Given the description of an element on the screen output the (x, y) to click on. 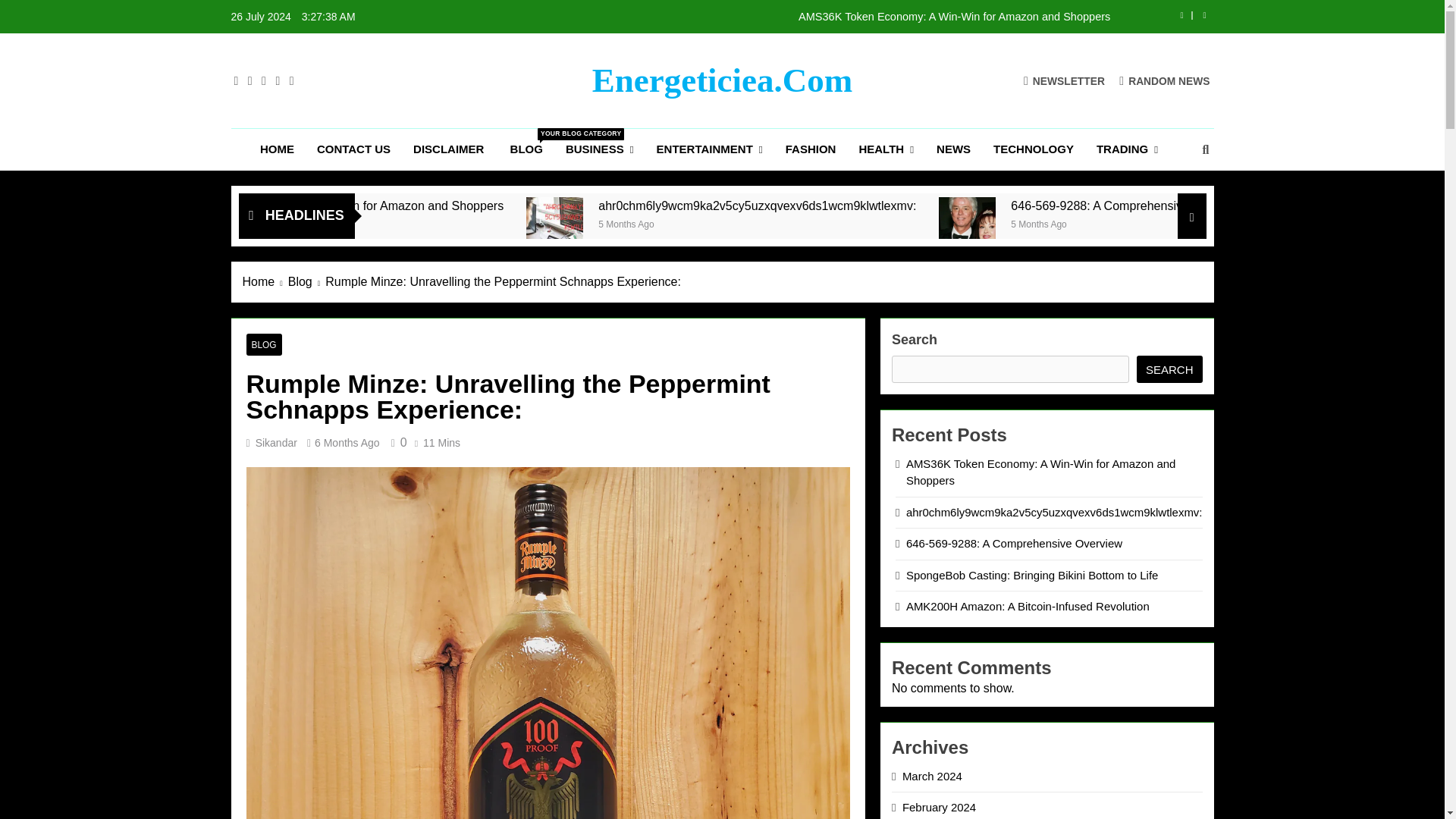
ahr0chm6ly9wcm9ka2v5cy5uzxqvexv6ds1wcm9klwtlexmv: (914, 205)
AMS36K Token Economy: A Win-Win for Amazon and Shoppers (817, 16)
HEALTH (885, 149)
646-569-9288: A Comprehensive Overview (1121, 225)
Energeticiea.Com (722, 80)
NEWSLETTER (1064, 80)
BUSINESS (599, 149)
ENTERTAINMENT (709, 149)
ahr0chm6ly9wcm9ka2v5cy5uzxqvexv6ds1wcm9klwtlexmv: (719, 225)
HOME (276, 148)
RANDOM NEWS (1164, 80)
ahr0chm6ly9wcm9ka2v5cy5uzxqvexv6ds1wcm9klwtlexmv: (715, 225)
FASHION (526, 148)
AMS36K Token Economy: A Win-Win for Amazon and Shoppers (810, 148)
